Given the description of an element on the screen output the (x, y) to click on. 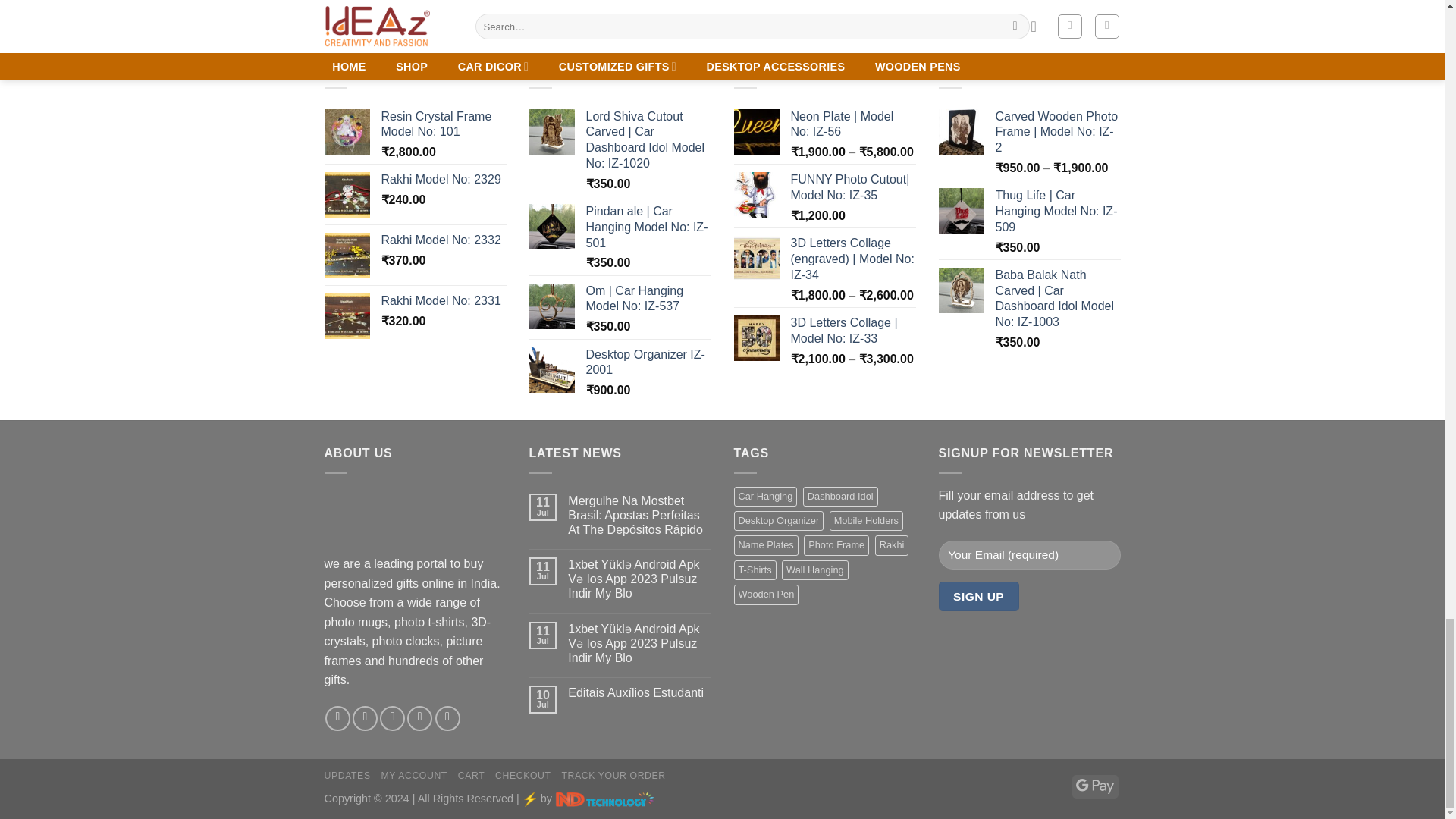
Sign Up (979, 595)
